Given the description of an element on the screen output the (x, y) to click on. 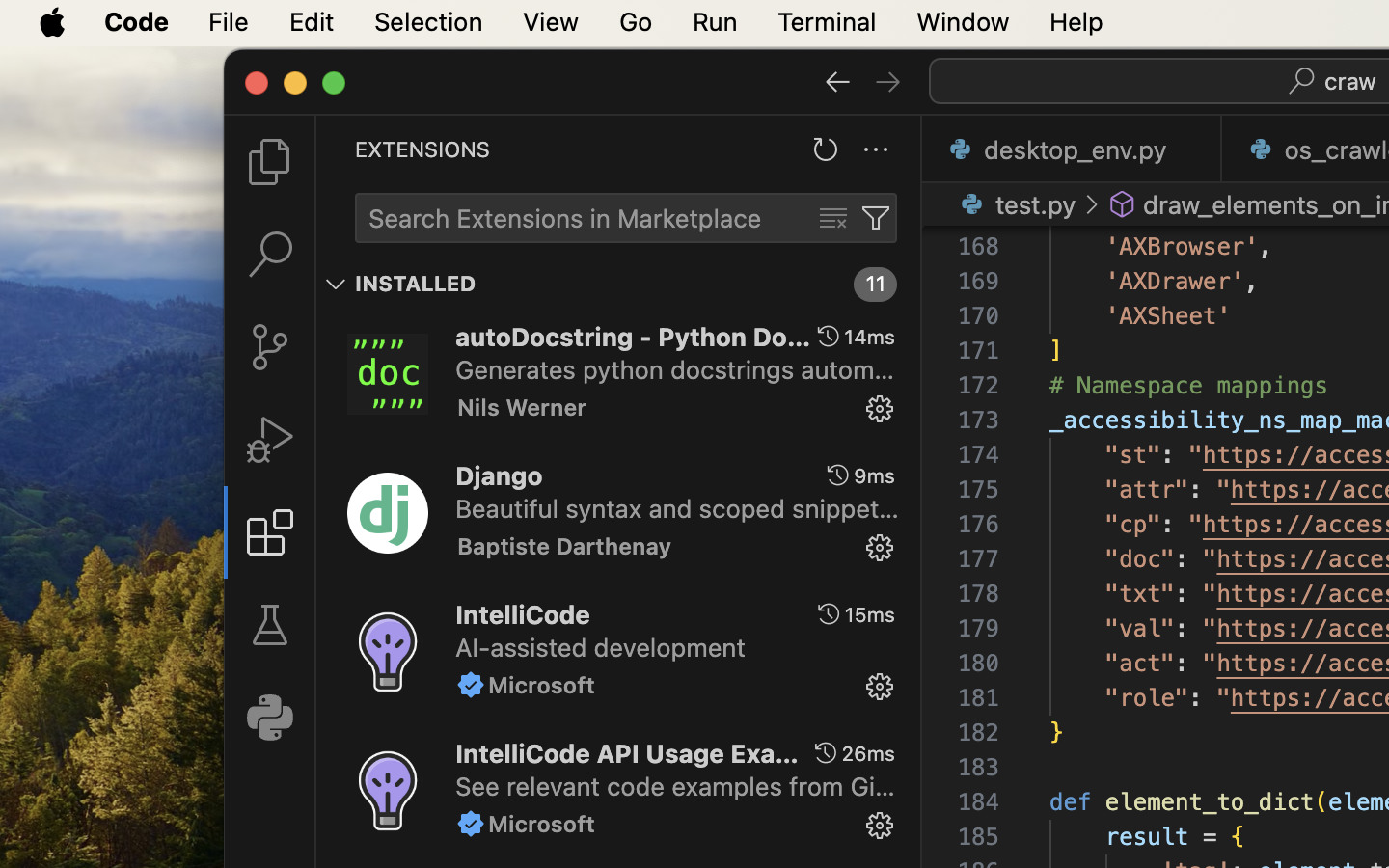
 Element type: AXGroup (269, 439)
test.py  Element type: AXGroup (1014, 204)
0  Element type: AXRadioButton (269, 346)
IntelliCode Element type: AXStaticText (522, 613)
0 Element type: AXRadioButton (269, 717)
